Given the description of an element on the screen output the (x, y) to click on. 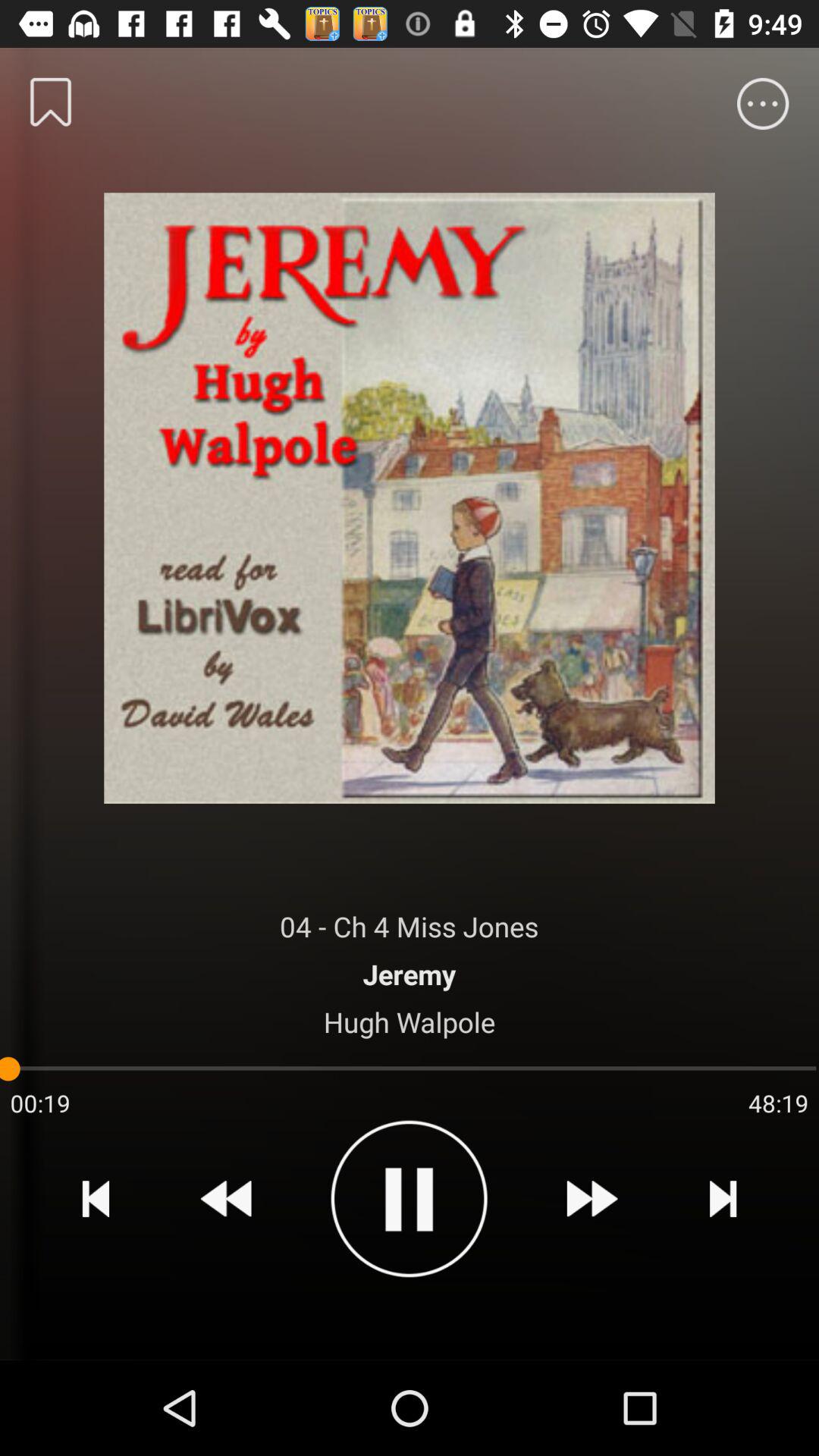
scroll until the jeremy (409, 974)
